Given the description of an element on the screen output the (x, y) to click on. 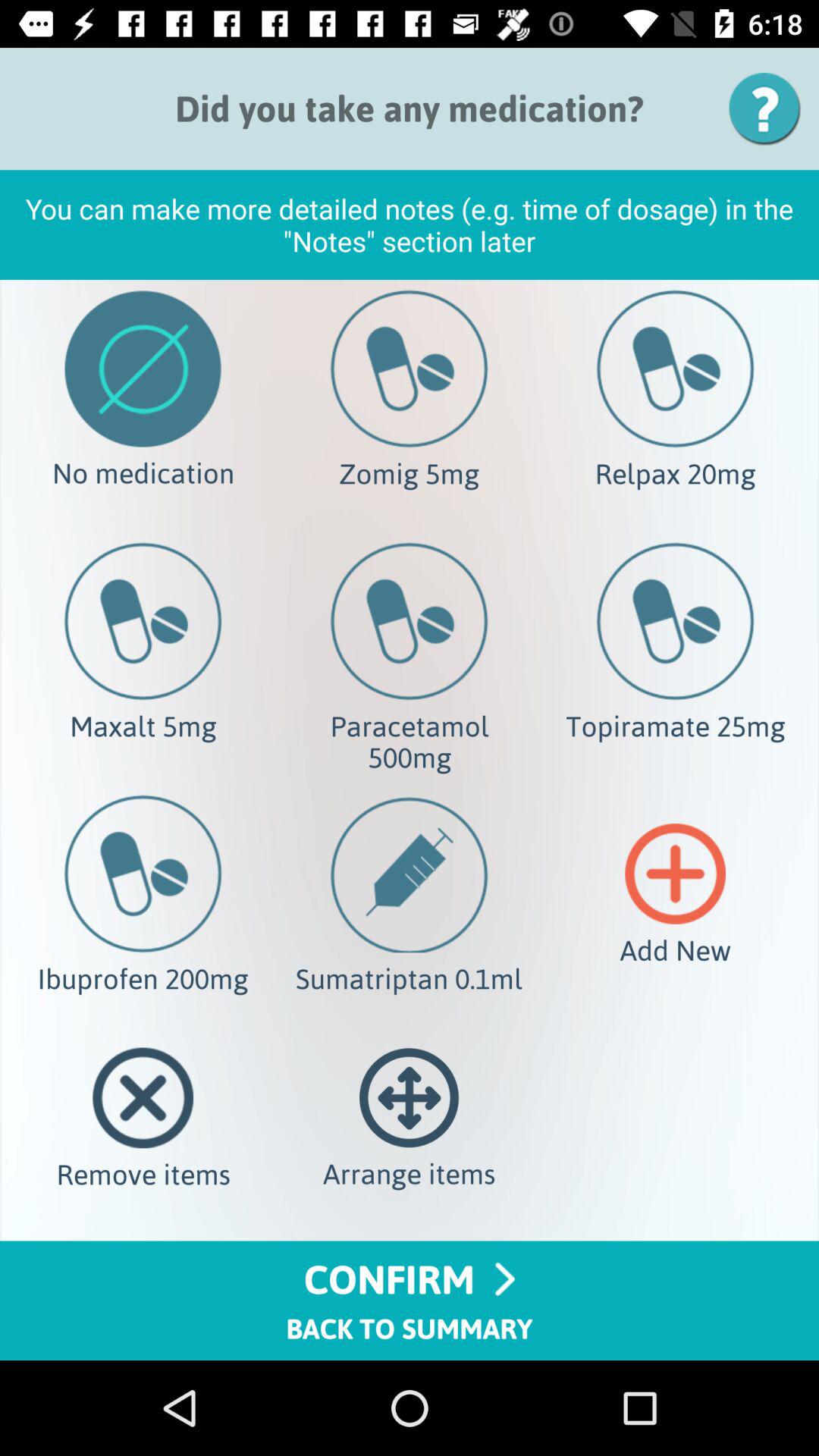
help option (769, 108)
